Given the description of an element on the screen output the (x, y) to click on. 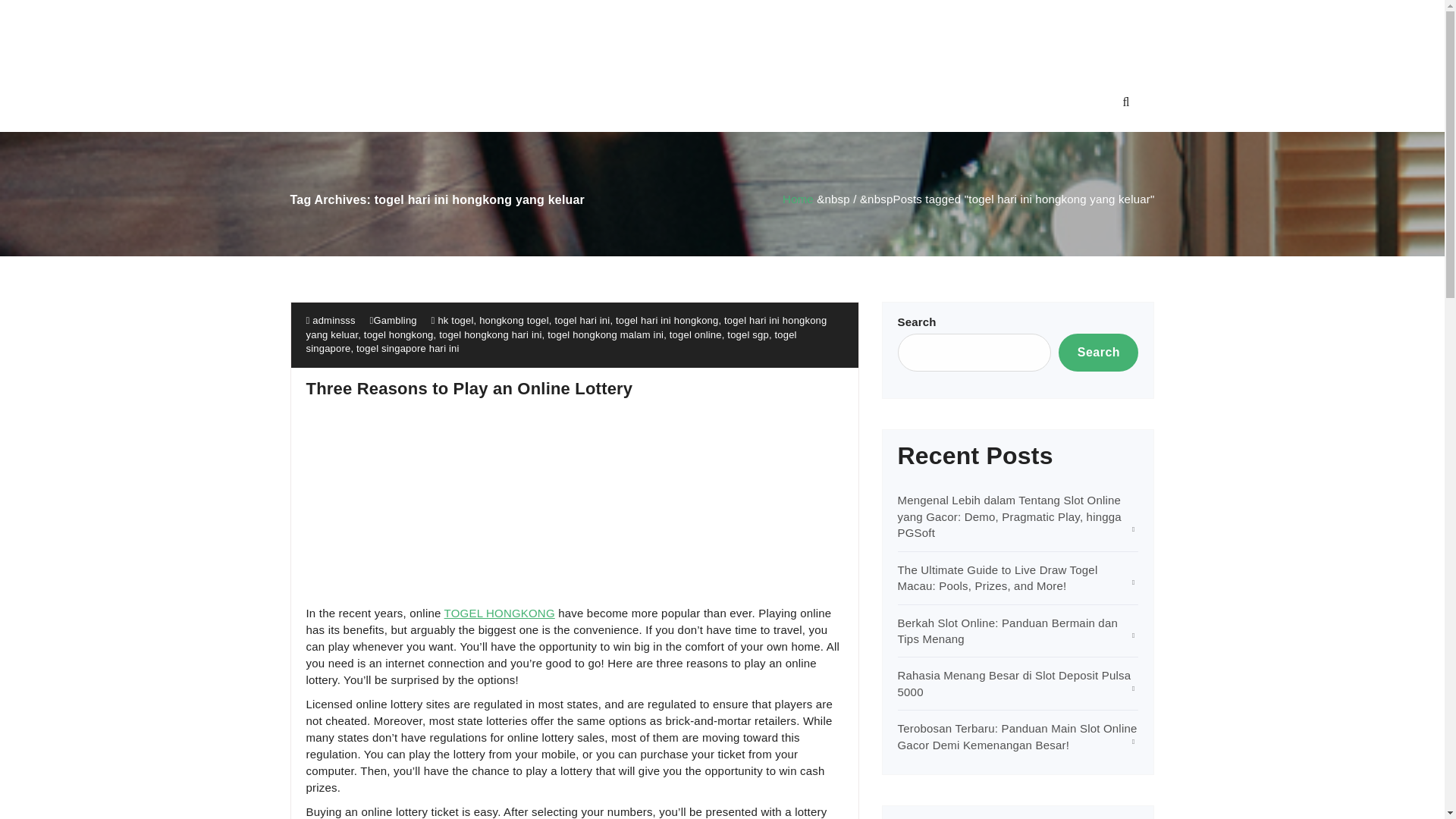
togel hongkong (398, 334)
Home (798, 198)
togel hari ini (582, 319)
hongkong togel (513, 319)
Search (1098, 352)
piadasidiotas (720, 35)
togel singapore hari ini (408, 348)
togel singapore (550, 341)
togel hari ini hongkong (666, 319)
adminsss (330, 319)
Three Reasons to Play an Online Lottery (469, 388)
Gambling (395, 319)
